Given the description of an element on the screen output the (x, y) to click on. 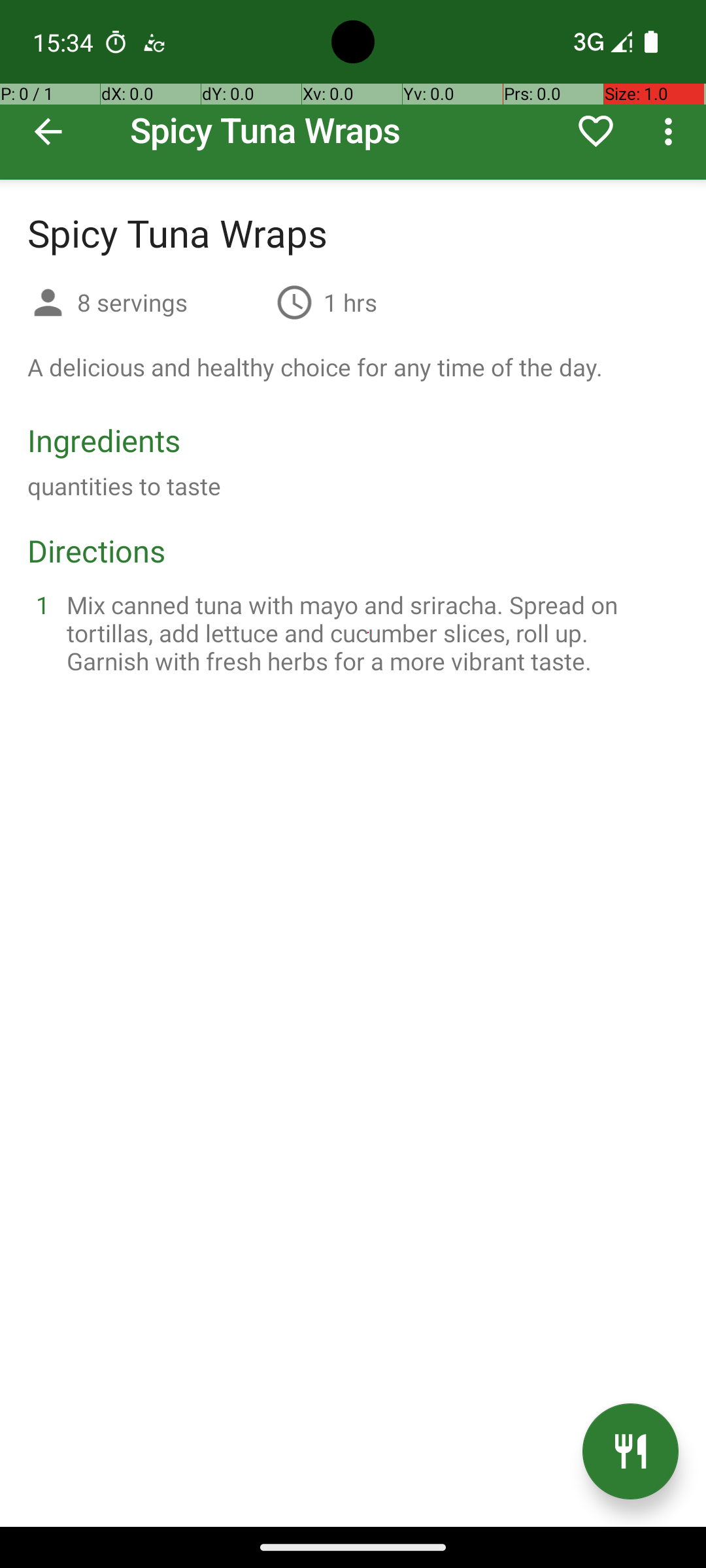
Spicy Tuna Wraps Element type: android.widget.FrameLayout (353, 89)
Mix canned tuna with mayo and sriracha. Spread on tortillas, add lettuce and cucumber slices, roll up. Garnish with fresh herbs for a more vibrant taste. Element type: android.widget.TextView (368, 632)
